Given the description of an element on the screen output the (x, y) to click on. 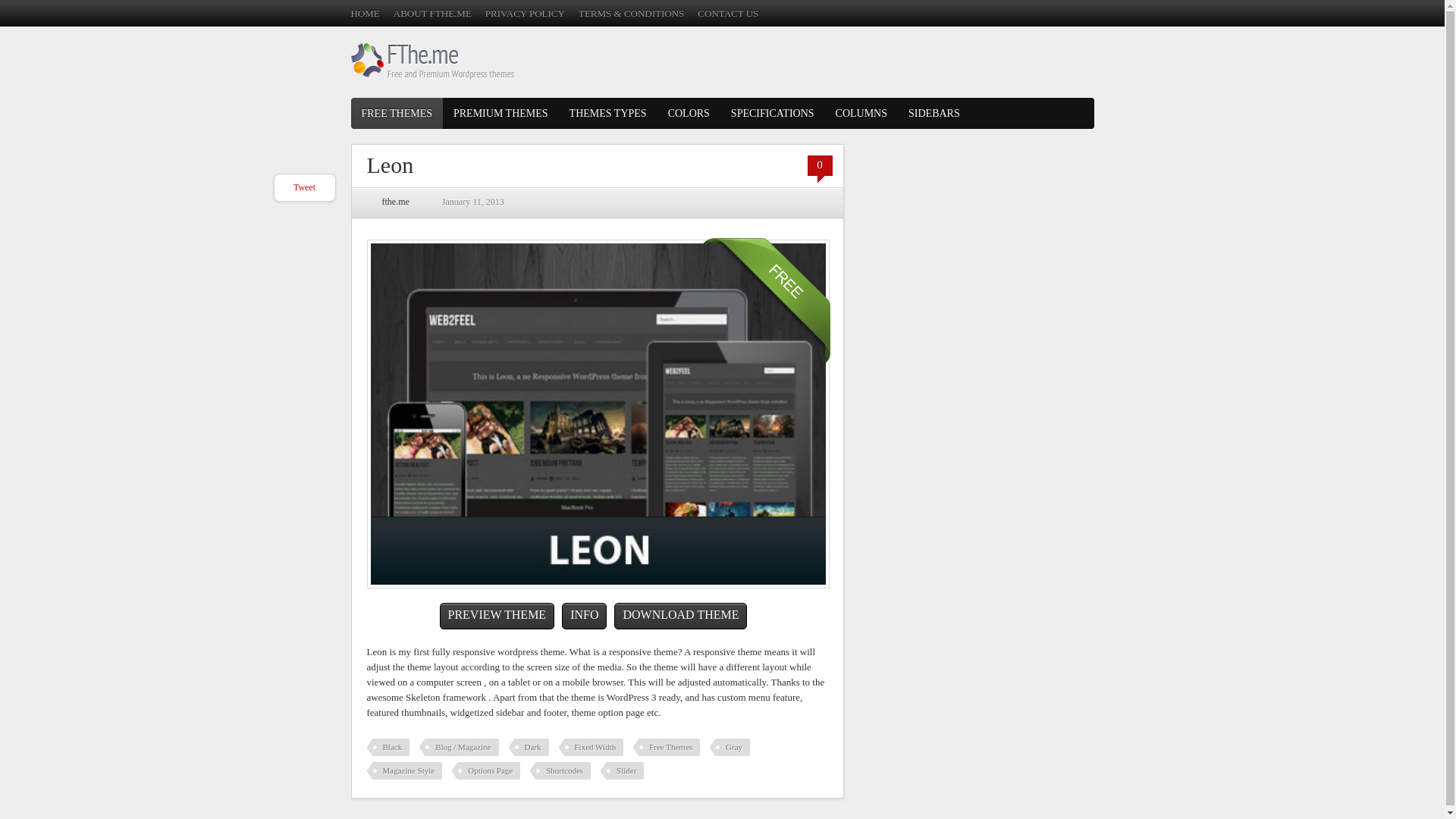
CONTACT US (727, 12)
COLORS (689, 112)
SPECIFICATIONS (772, 112)
THEMES TYPES (608, 112)
PREMIUM THEMES (500, 112)
ABOUT FTHE.ME (432, 12)
FREE THEMES (396, 112)
PRIVACY POLICY (524, 12)
HOME (364, 12)
